Given the description of an element on the screen output the (x, y) to click on. 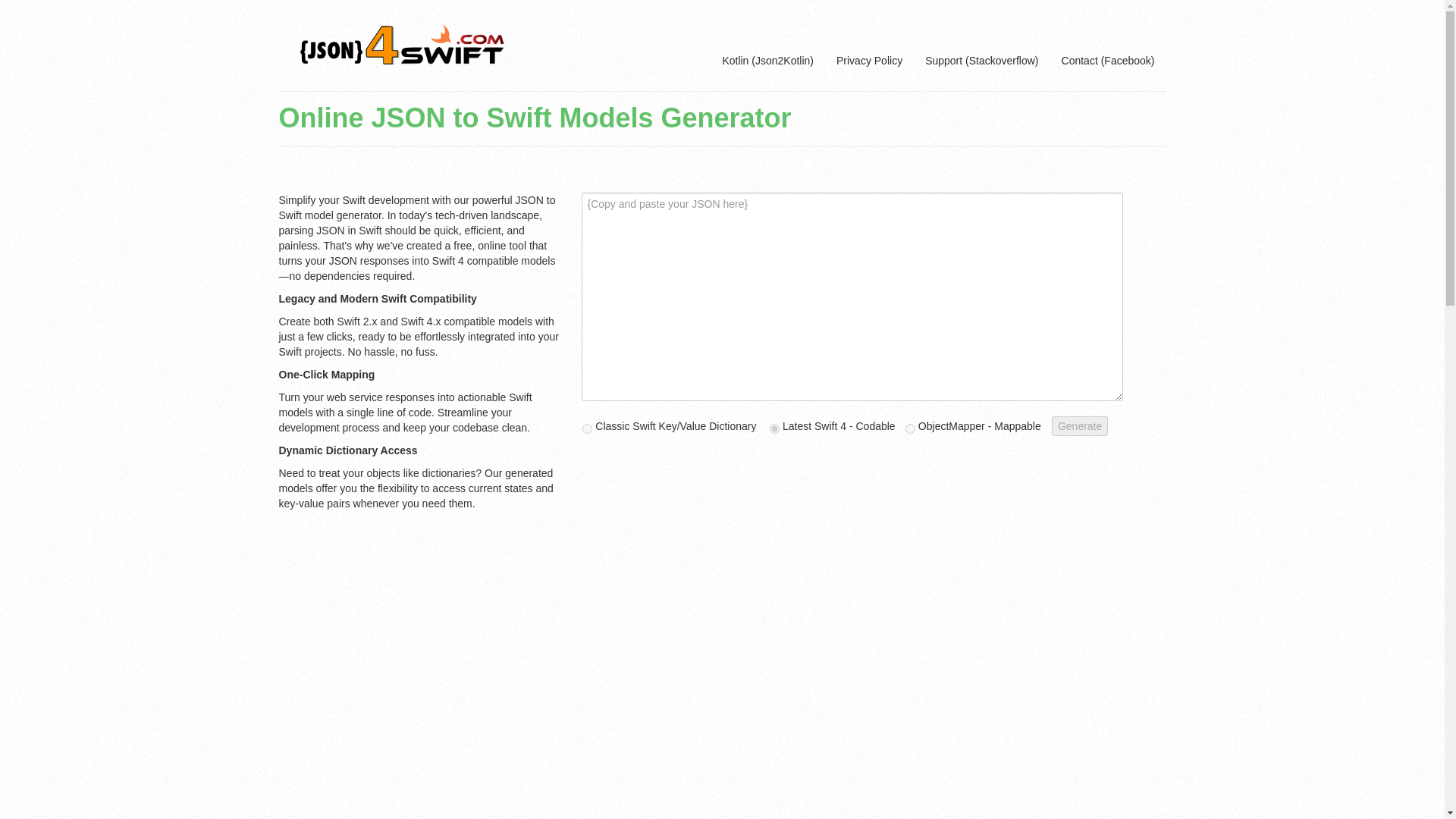
objectmapper (910, 429)
Generate (1079, 425)
Privacy Policy (869, 60)
Advertisement (873, 753)
ObjectMapper (951, 426)
Generate (1079, 425)
four (774, 429)
two (587, 429)
